Given the description of an element on the screen output the (x, y) to click on. 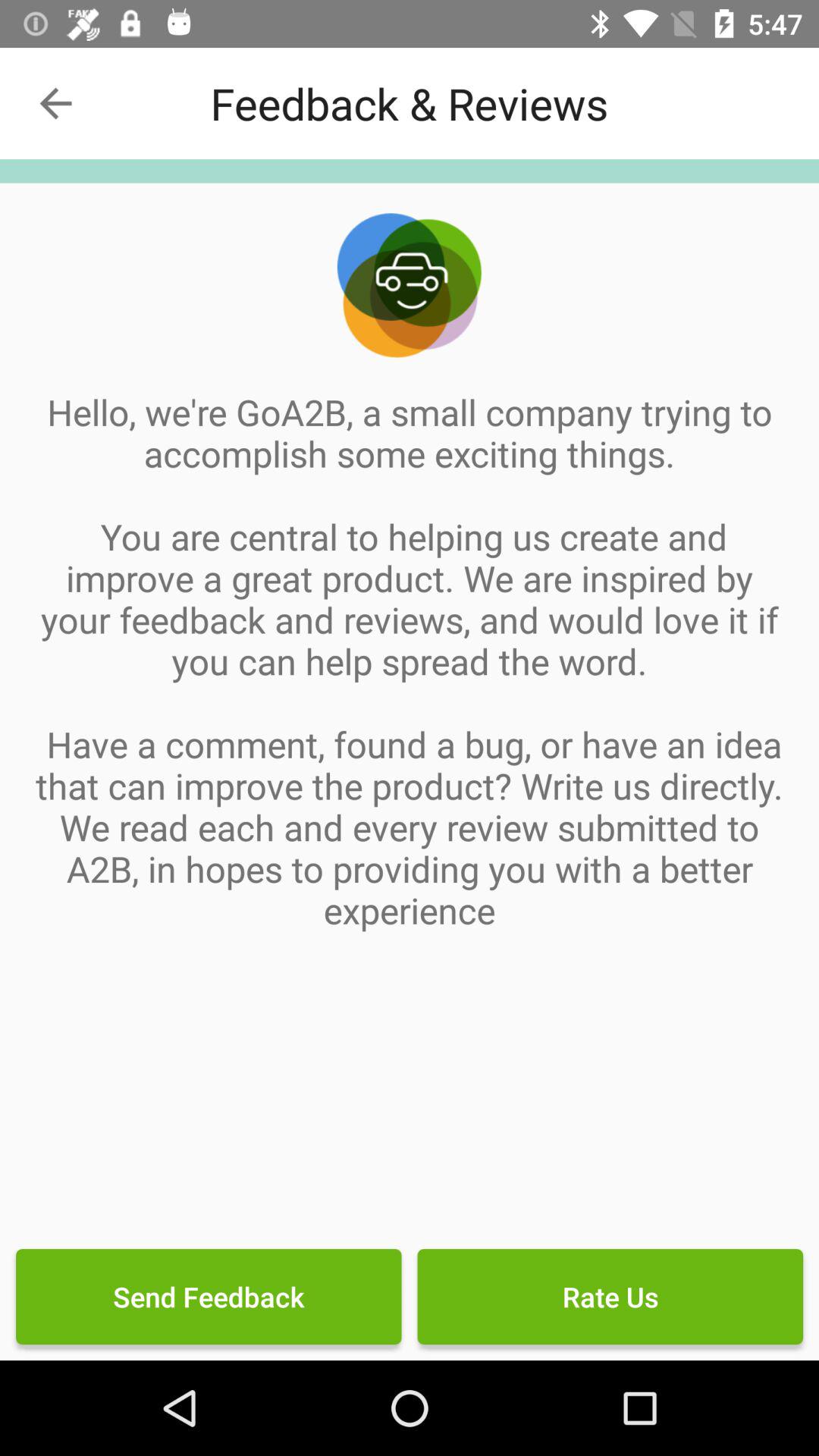
select the item to the left of feedback & reviews (55, 103)
